Given the description of an element on the screen output the (x, y) to click on. 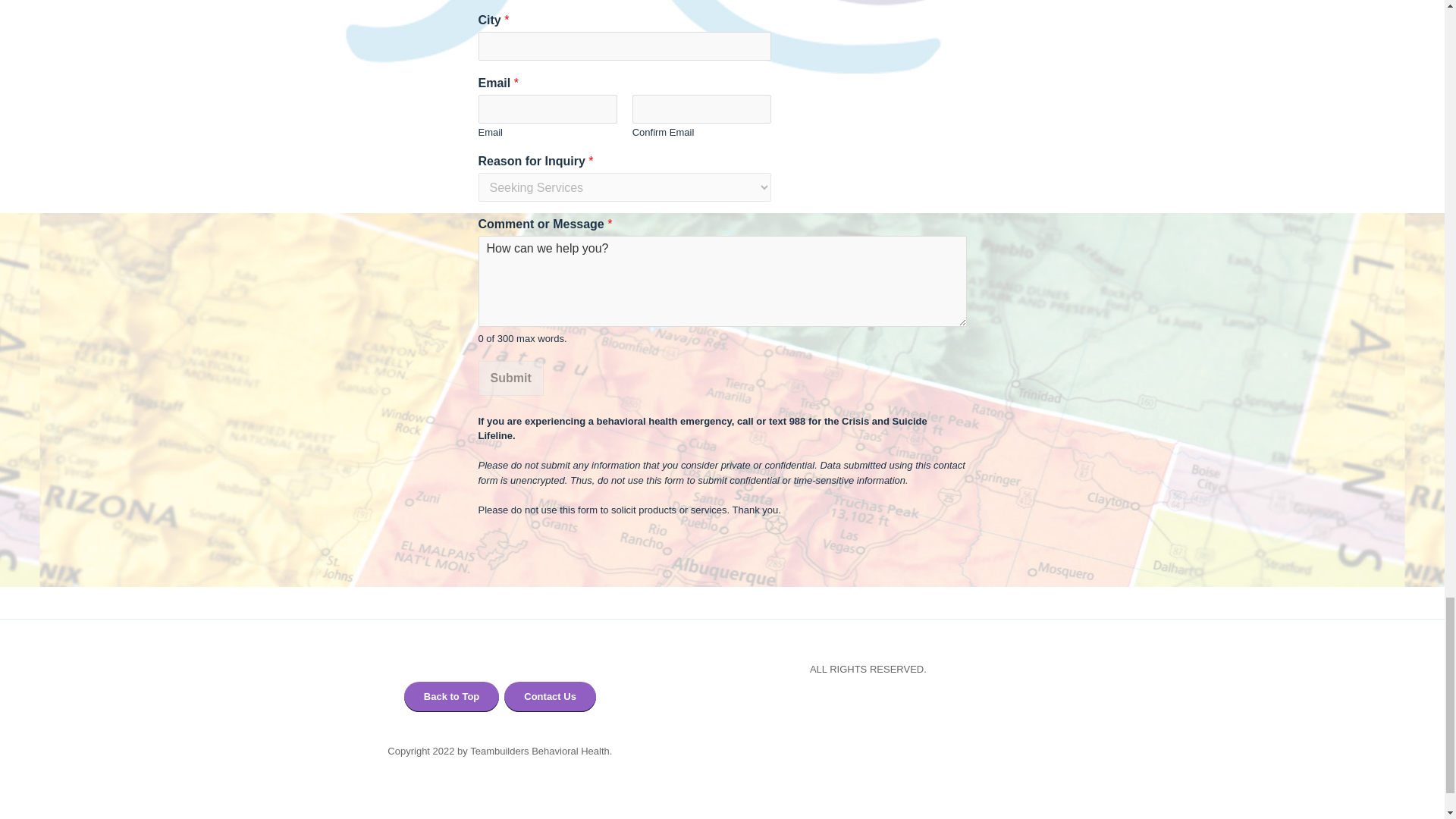
Contact Us (549, 696)
Submit (510, 378)
Back to Top (451, 696)
